Given the description of an element on the screen output the (x, y) to click on. 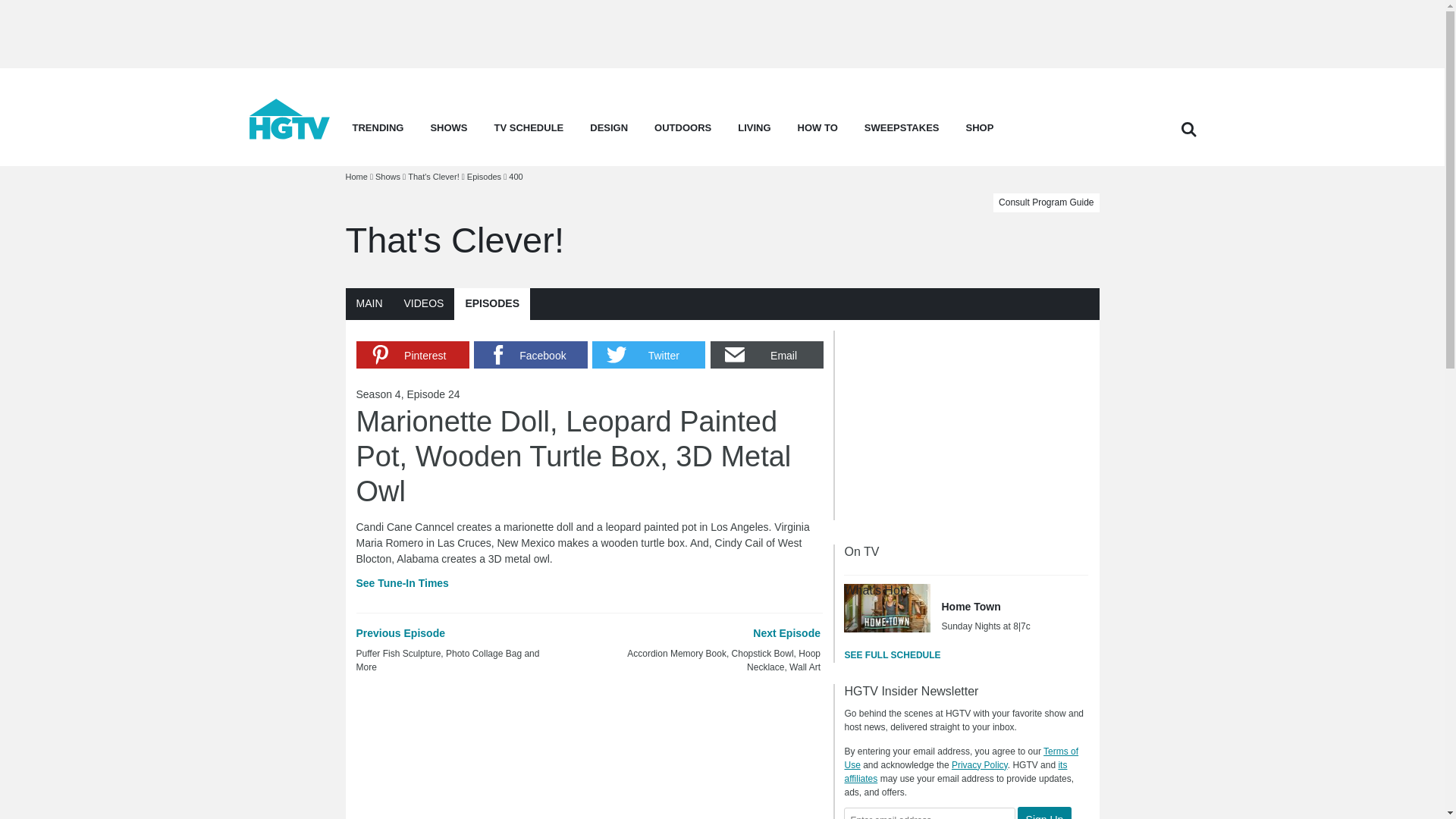
Share by Email (767, 354)
home (289, 135)
Share on Twitter (648, 354)
Home Town (887, 607)
Share on Pinterest (412, 354)
Share on Facebook (530, 354)
